Given the description of an element on the screen output the (x, y) to click on. 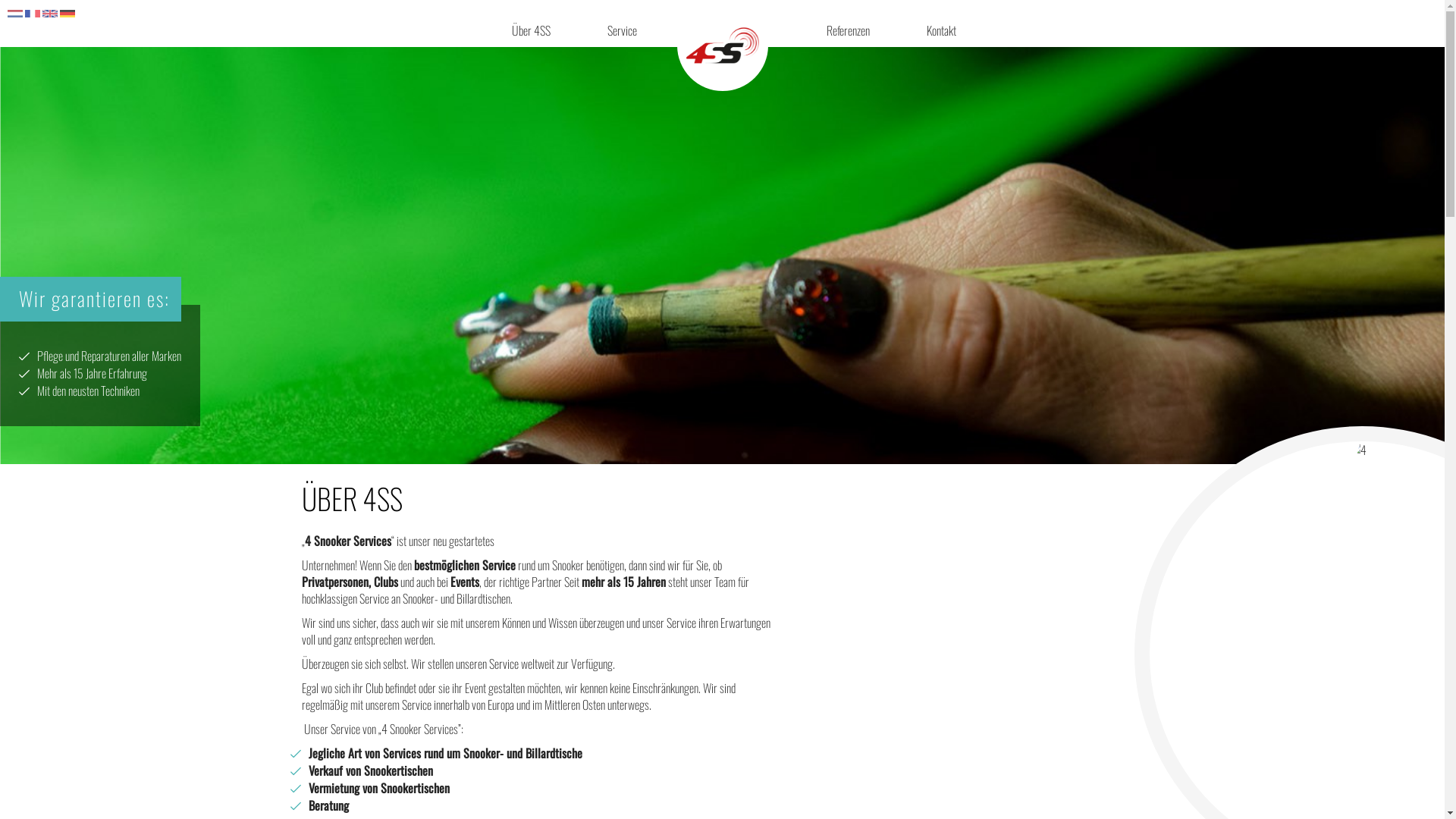
en Element type: text (49, 15)
Referenzen Element type: text (838, 32)
fr Element type: text (32, 15)
nl Element type: text (14, 15)
de Element type: text (67, 15)
Kontakt Element type: text (931, 32)
Service Element type: text (612, 32)
